Given the description of an element on the screen output the (x, y) to click on. 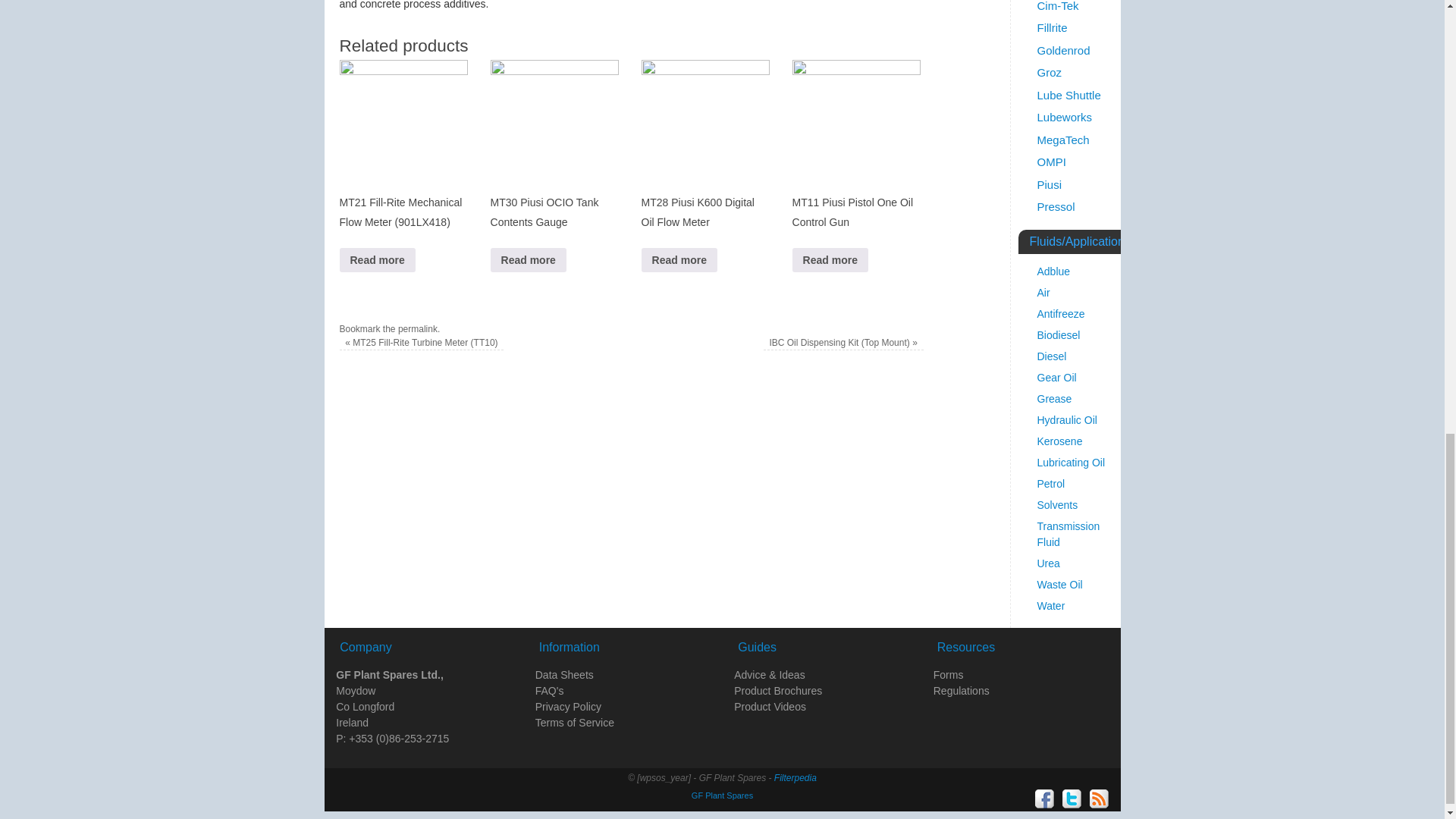
Read more (376, 259)
13 topics (1051, 27)
1 topic (1063, 50)
Read more (829, 259)
10 topics (1064, 116)
Read more (679, 259)
permalink (417, 328)
2 topics (1049, 72)
Read more (528, 259)
13 topics (1057, 6)
1 topic (1068, 94)
